Given the description of an element on the screen output the (x, y) to click on. 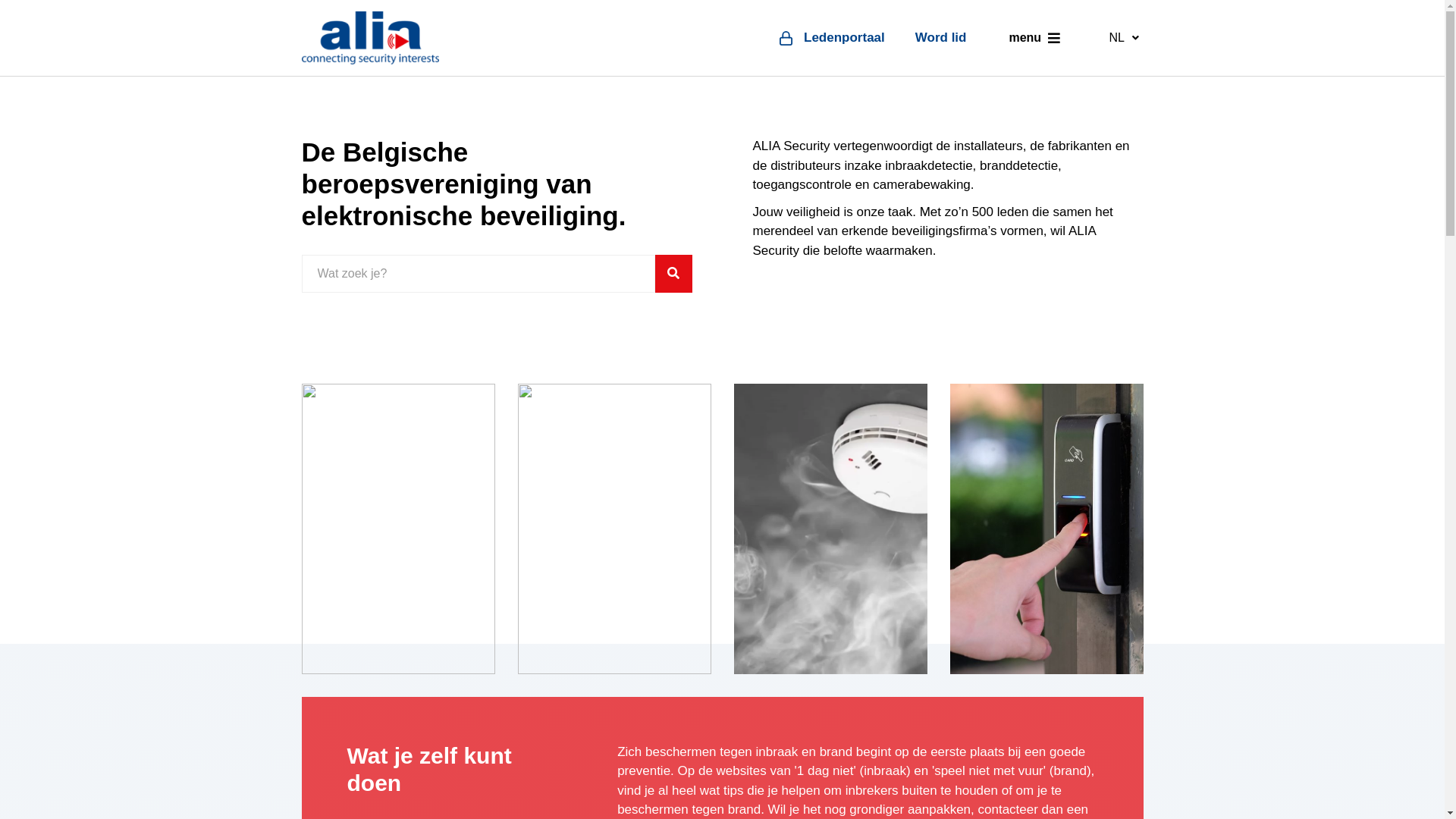
speel niet met vuur Element type: text (988, 770)
Ledenportaal Element type: text (831, 37)
menu Element type: text (1034, 37)
1 dag niet Element type: text (825, 770)
Word lid Element type: text (940, 37)
NL Element type: text (1123, 37)
